Given the description of an element on the screen output the (x, y) to click on. 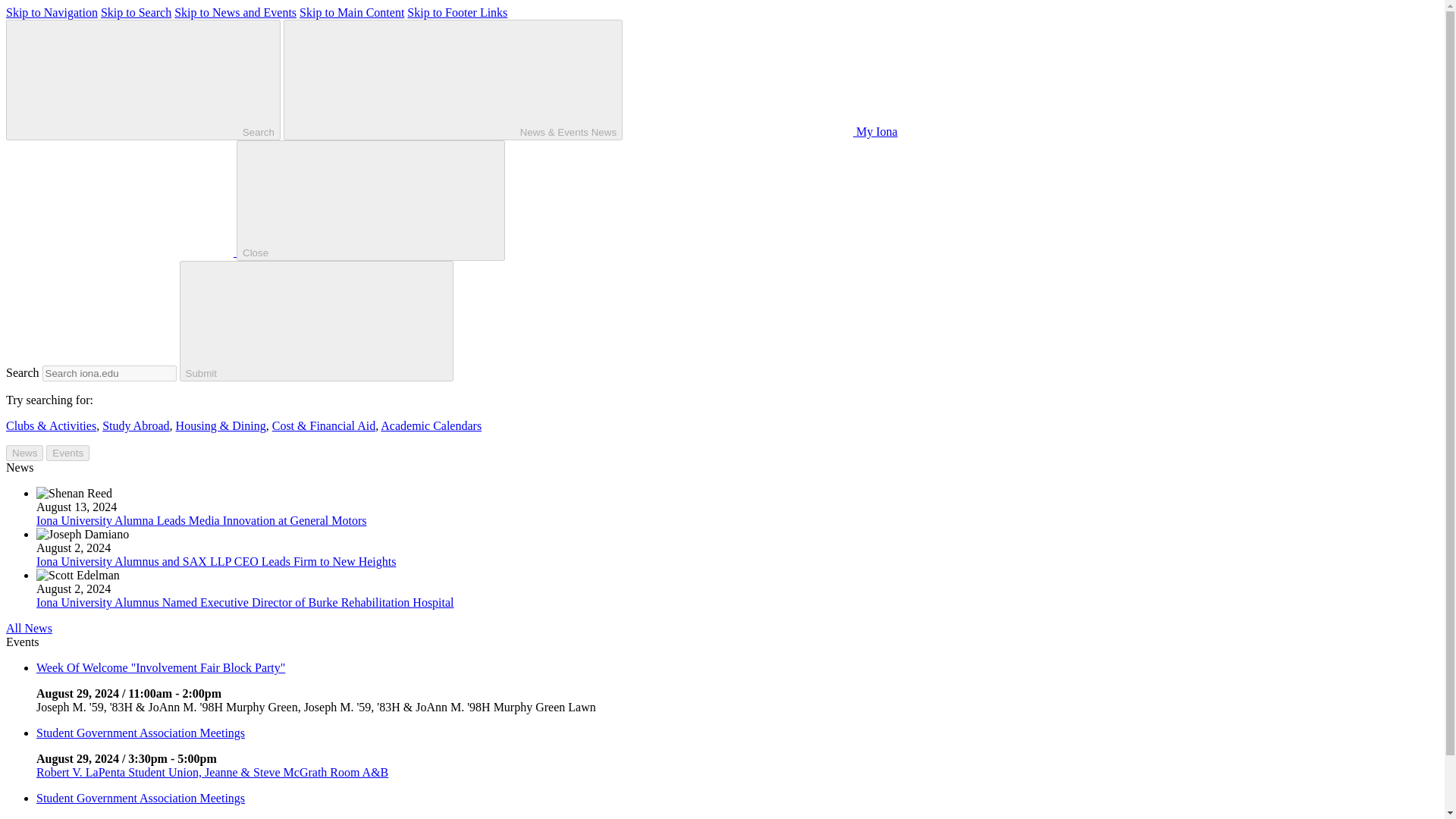
Search (143, 79)
Iona University (120, 251)
Close (370, 200)
Academic Calendars (430, 425)
Study Abroad (134, 425)
Student Government Association Meetings (140, 797)
Skip to News and Events (235, 11)
Submit (315, 321)
Skip to Search (135, 11)
